Given the description of an element on the screen output the (x, y) to click on. 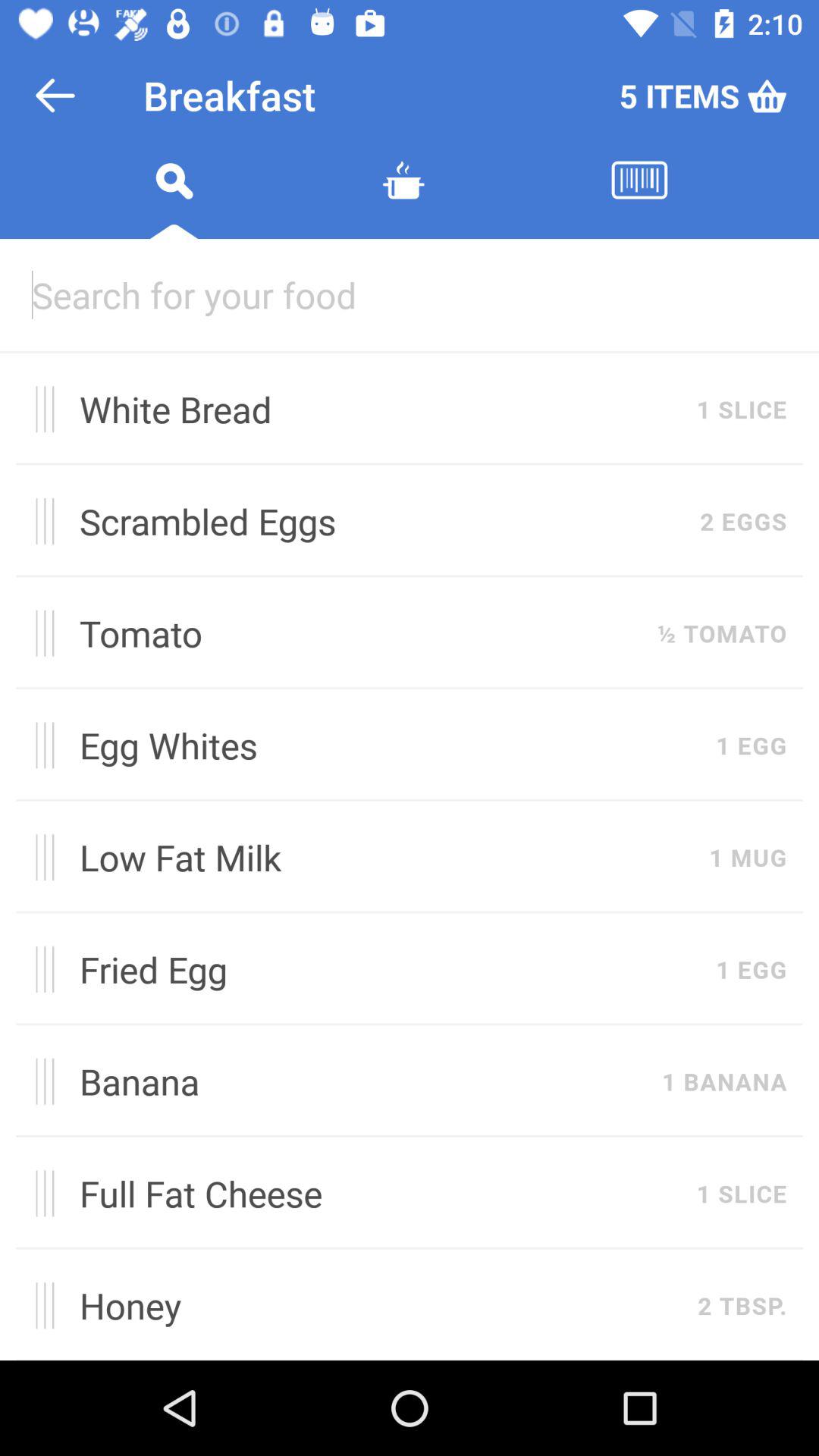
launch the egg whites item (389, 745)
